Given the description of an element on the screen output the (x, y) to click on. 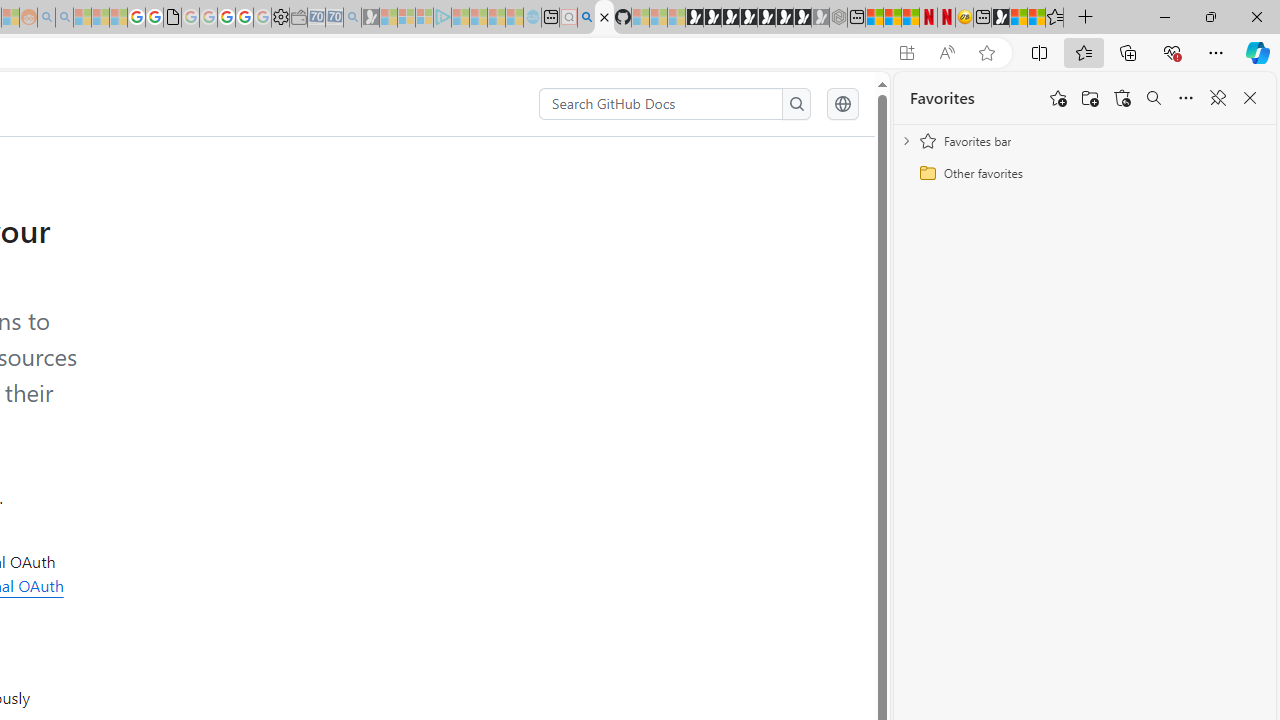
Search favorites (1153, 98)
Select language: current language is English (842, 103)
Add folder (1089, 98)
